Given the description of an element on the screen output the (x, y) to click on. 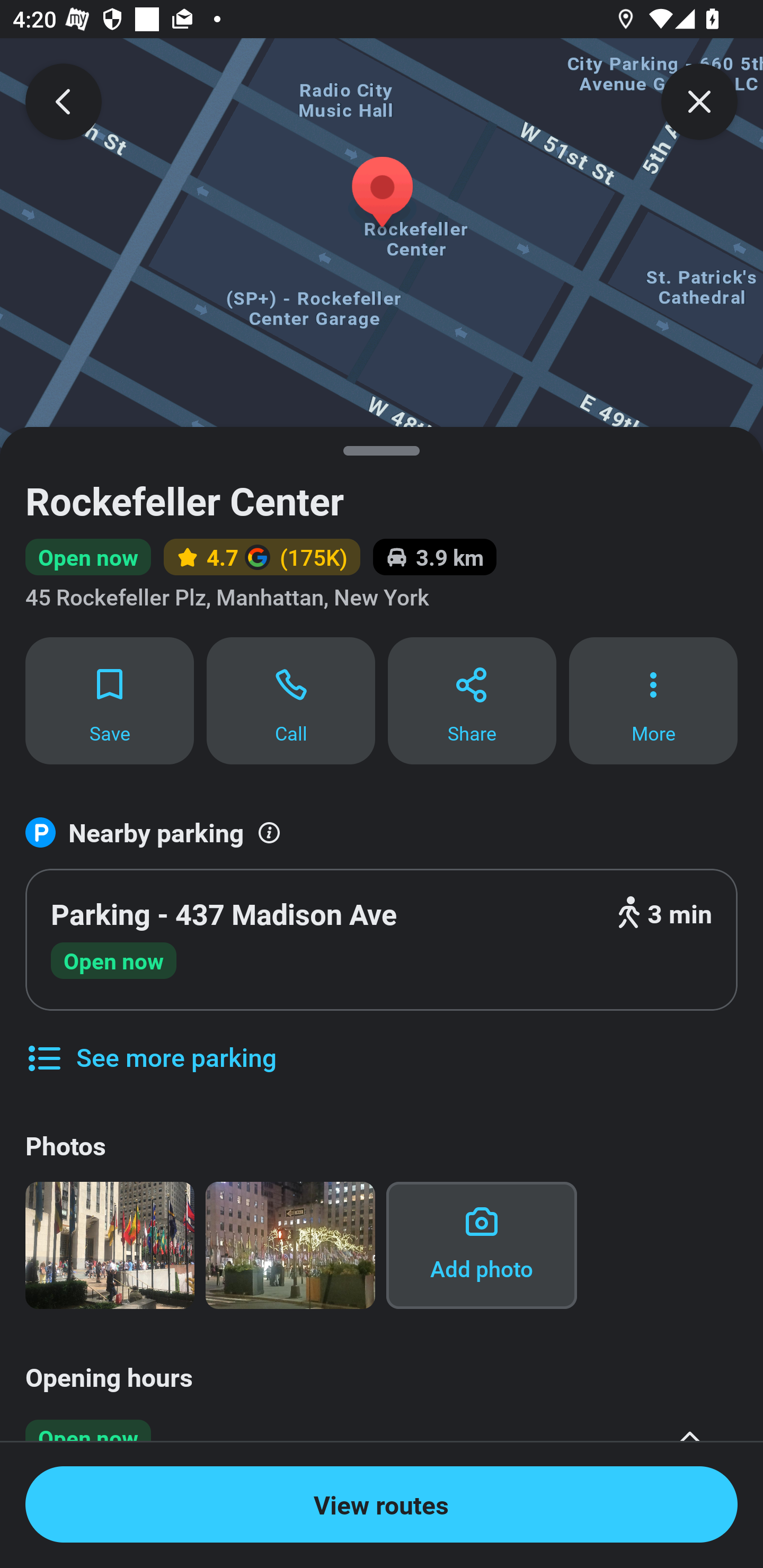
Save (109, 700)
Call (290, 700)
Share (471, 700)
More (653, 700)
Parking - 437 Madison Ave 3 min Open now (381, 939)
See more parking (150, 1043)
Add photo (481, 1245)
View routes (381, 1504)
